Given the description of an element on the screen output the (x, y) to click on. 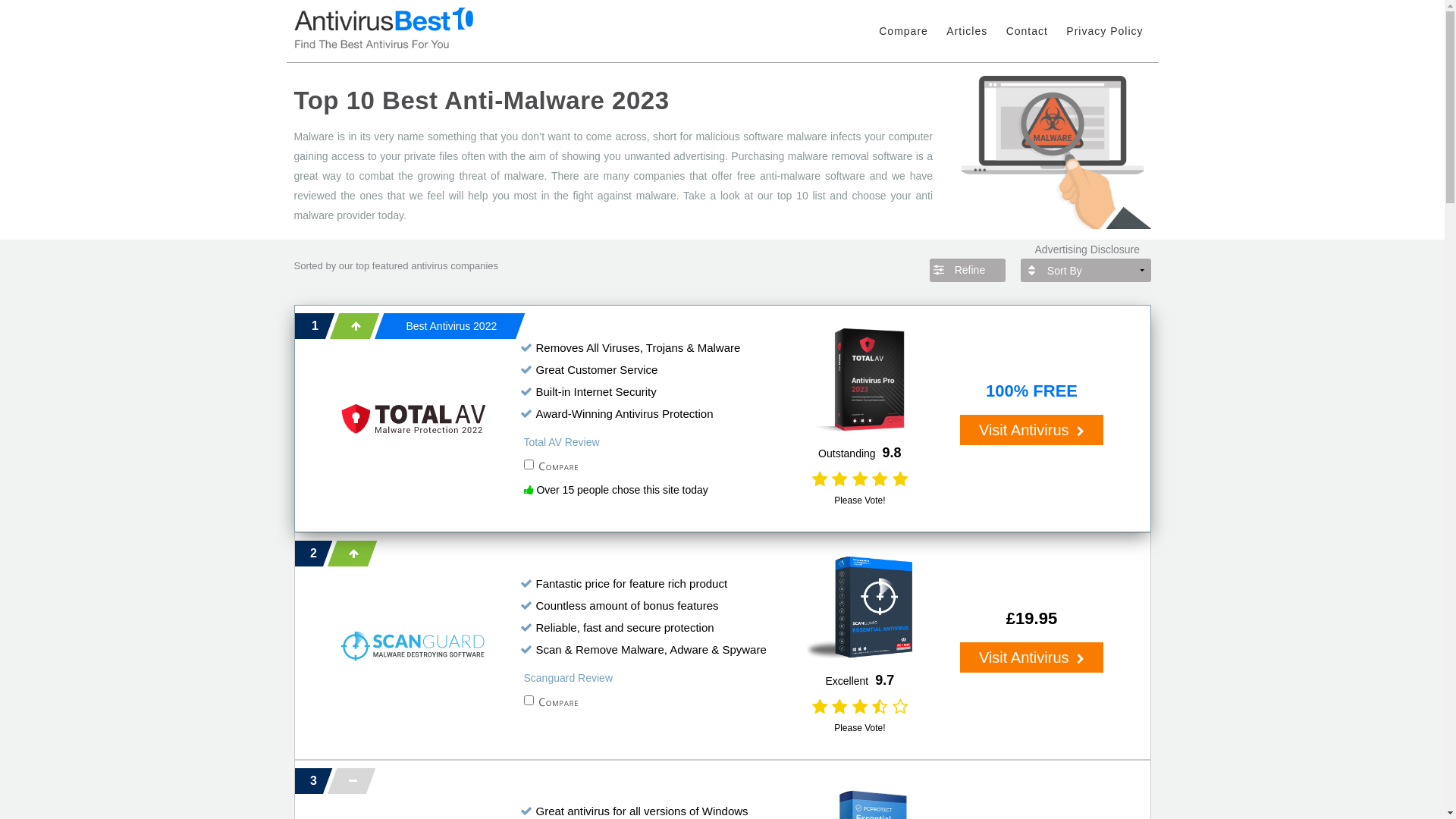
Contact Element type: text (1026, 38)
Advertising Disclosure Element type: text (1113, 249)
Compare Element type: text (903, 38)
Privacy Policy Element type: text (1104, 38)
Total AV Element type: hover (413, 418)
Total AV Review Element type: text (561, 442)
top featured Element type: text (381, 265)
Scanguard Element type: hover (412, 645)
Articles Element type: text (966, 38)
Scanguard Review Element type: text (567, 678)
